Given the description of an element on the screen output the (x, y) to click on. 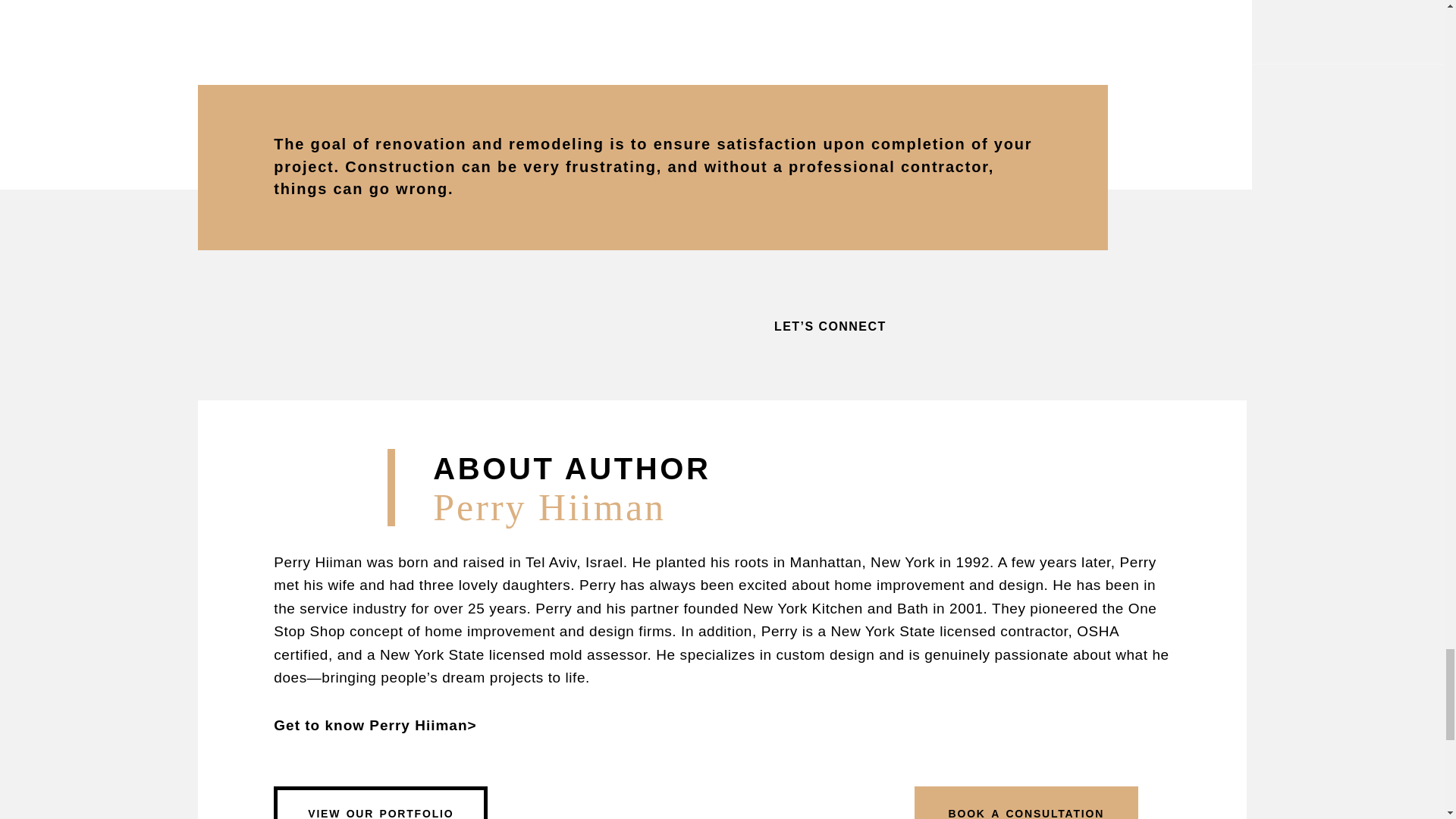
Follow on Pinterest (946, 325)
Follow on X (1054, 325)
Follow on Instagram (980, 325)
Follow on Youtube (1095, 325)
Follow on Facebook (1020, 325)
